Given the description of an element on the screen output the (x, y) to click on. 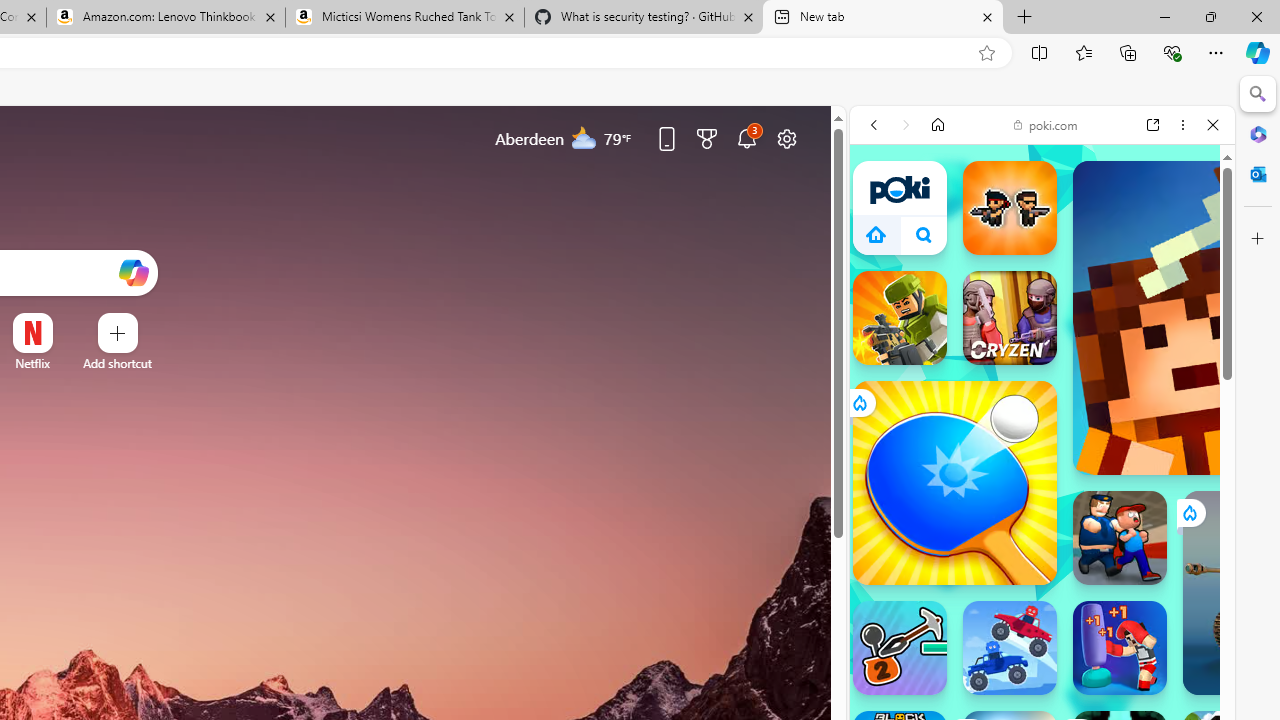
poki.com (1046, 124)
Zombie Rush (1009, 207)
Punch Legend Simulator (1119, 647)
Two Player Games (1042, 602)
Cryzen.io (1009, 317)
Show More Two Player Games (1164, 603)
Punch Legend Simulator Punch Legend Simulator (1119, 647)
